Given the description of an element on the screen output the (x, y) to click on. 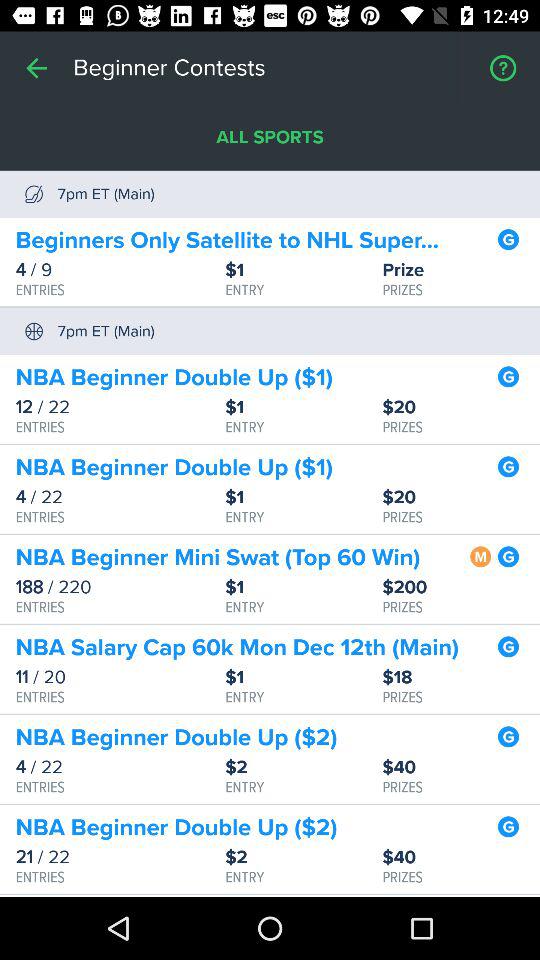
click 11 / 20 item (120, 677)
